Given the description of an element on the screen output the (x, y) to click on. 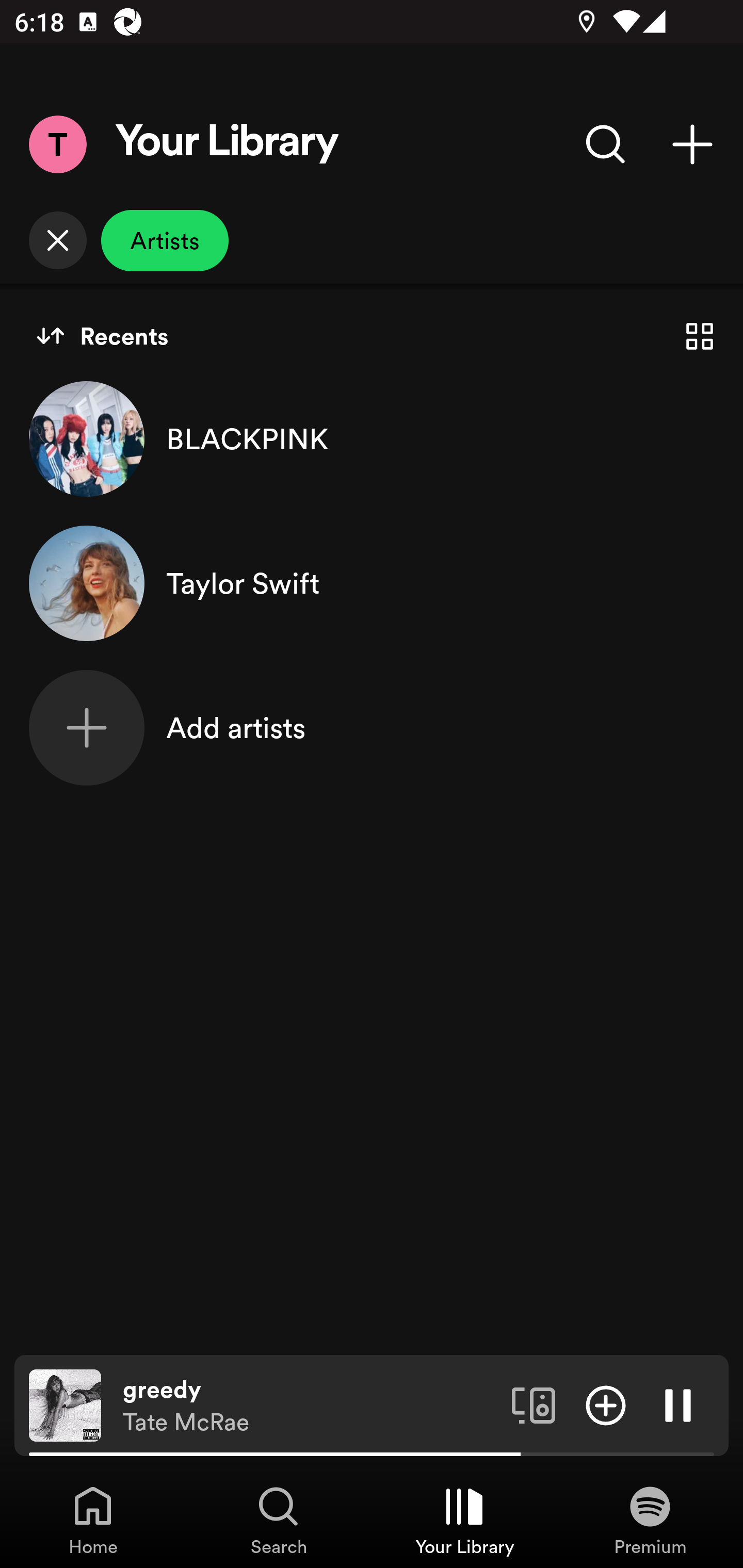
Menu (57, 144)
Search Your Library (605, 144)
Create playlist (692, 144)
Your Library Your Library Heading (226, 144)
Clear Filters (57, 240)
Artists, show only artists. (164, 240)
Recents (101, 336)
Show Grid view (699, 336)
BLACKPINK,  BLACKPINK (371, 439)
Taylor Swift,  Taylor Swift (371, 583)
Add artists,  Add artists (371, 727)
greedy Tate McRae (309, 1405)
The cover art of the currently playing track (64, 1404)
Connect to a device. Opens the devices menu (533, 1404)
Add item (605, 1404)
Pause (677, 1404)
Home, Tab 1 of 4 Home Home (92, 1519)
Search, Tab 2 of 4 Search Search (278, 1519)
Your Library, Tab 3 of 4 Your Library Your Library (464, 1519)
Premium, Tab 4 of 4 Premium Premium (650, 1519)
